Given the description of an element on the screen output the (x, y) to click on. 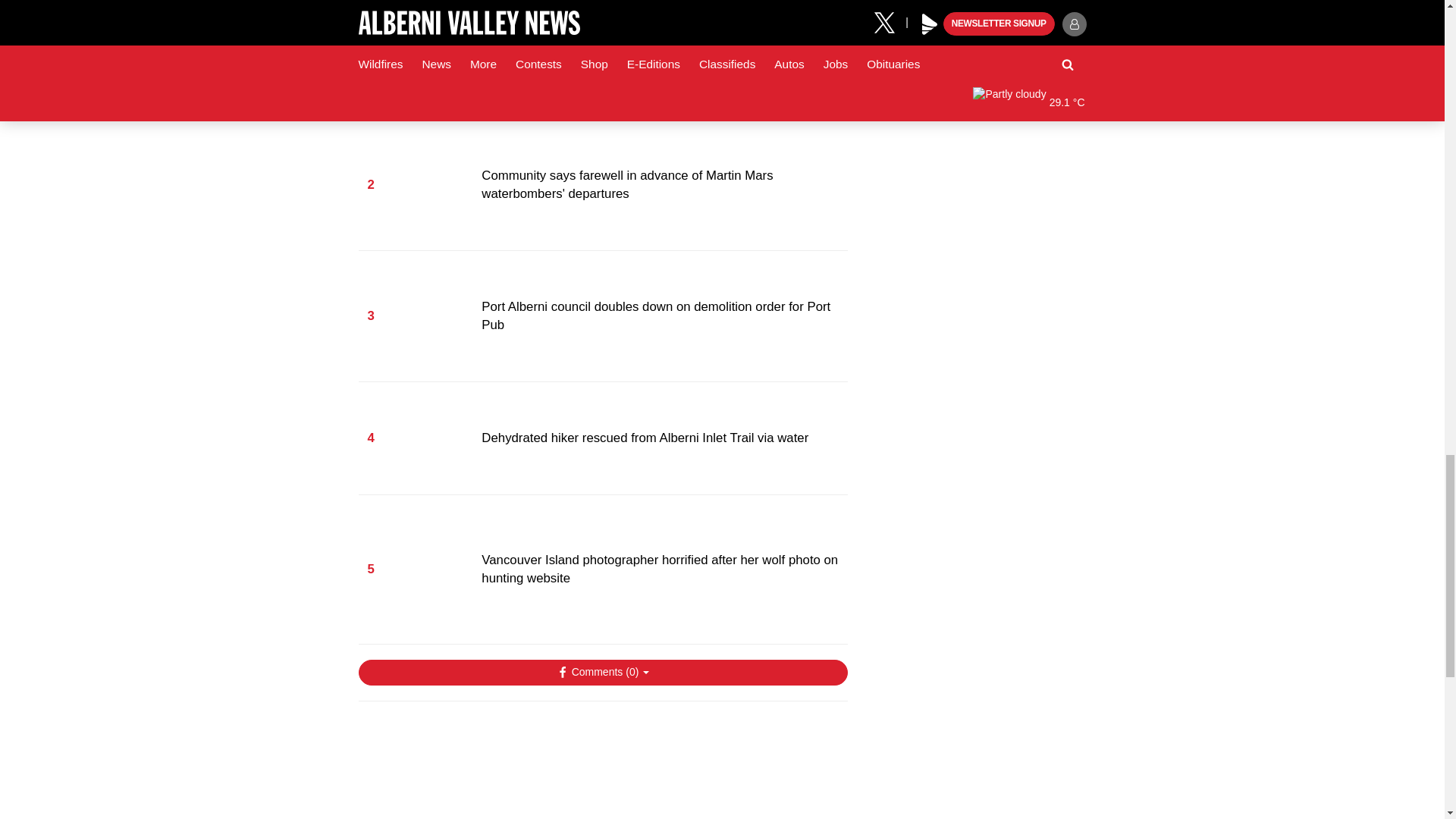
Show Comments (602, 672)
